Given the description of an element on the screen output the (x, y) to click on. 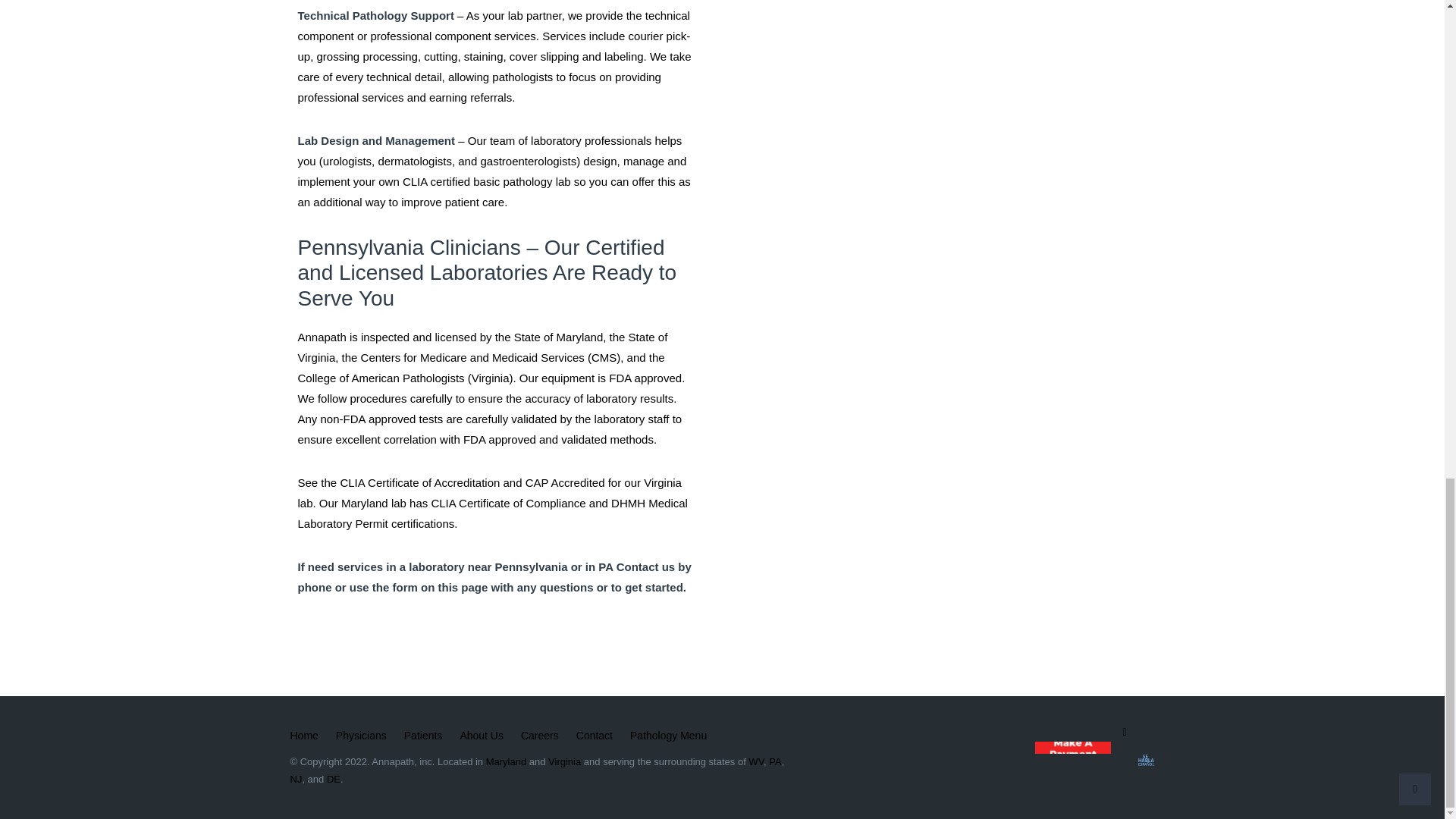
CLIA Certificate of Accreditation (419, 481)
Physicians (361, 735)
About Us (481, 735)
CLIA Certificate of Compliance (507, 502)
DHMH Medical Laboratory Permit (492, 512)
Patients (423, 735)
Careers (540, 735)
Contact (594, 735)
WV (755, 761)
CAP Accredited (565, 481)
Pathology Menu (668, 735)
PA (774, 761)
Virginia (564, 761)
Maryland (505, 761)
Home (303, 735)
